Given the description of an element on the screen output the (x, y) to click on. 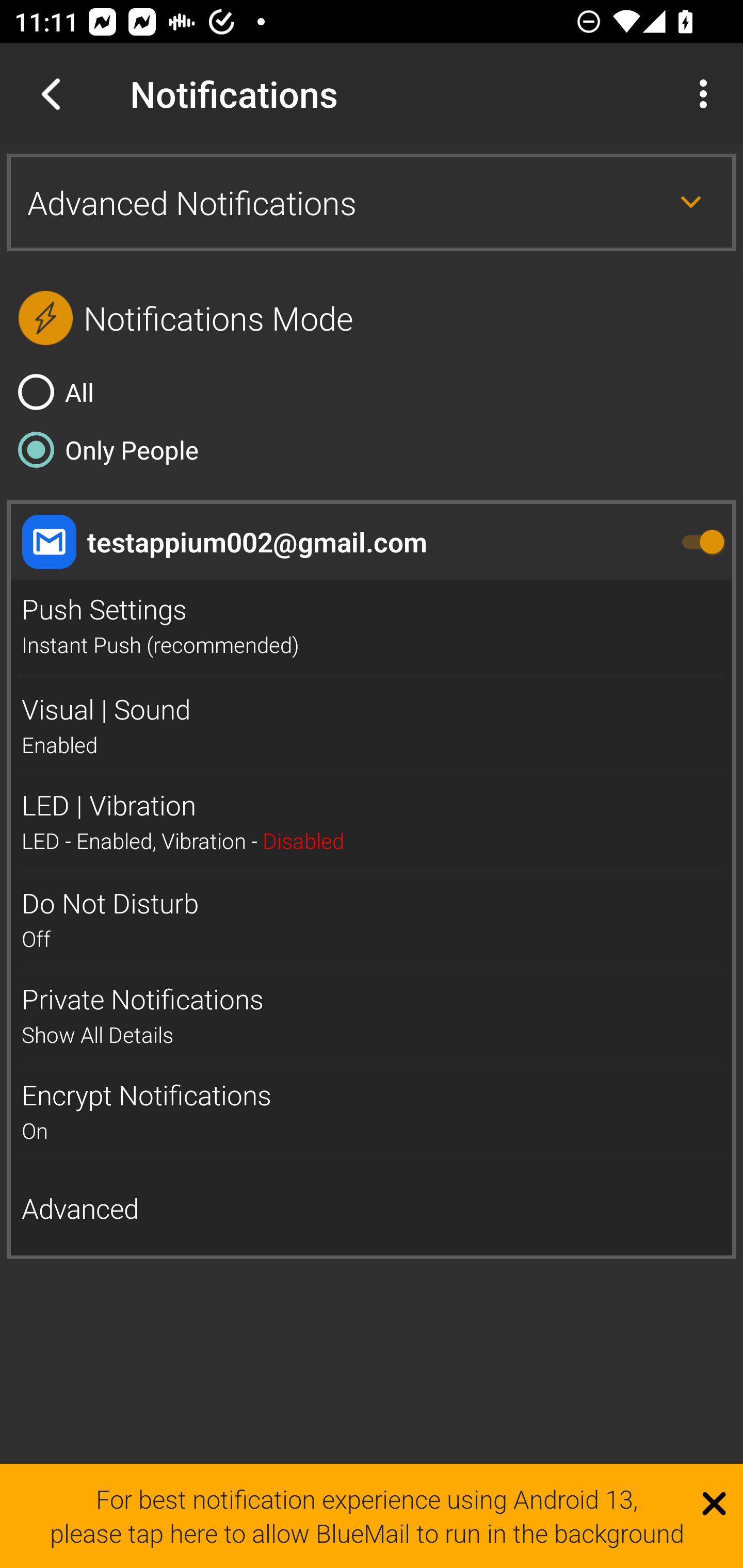
Navigate up (50, 93)
More options (706, 93)
Advanced Notifications (371, 201)
All (371, 391)
Only People (371, 449)
Push Settings Instant Push (recommended) (371, 627)
Visual | Sound Enabled (371, 726)
Do Not Disturb Off (371, 920)
Private Notifications Show All Details (371, 1016)
Encrypt Notifications On (371, 1112)
Advanced (371, 1208)
